Given the description of an element on the screen output the (x, y) to click on. 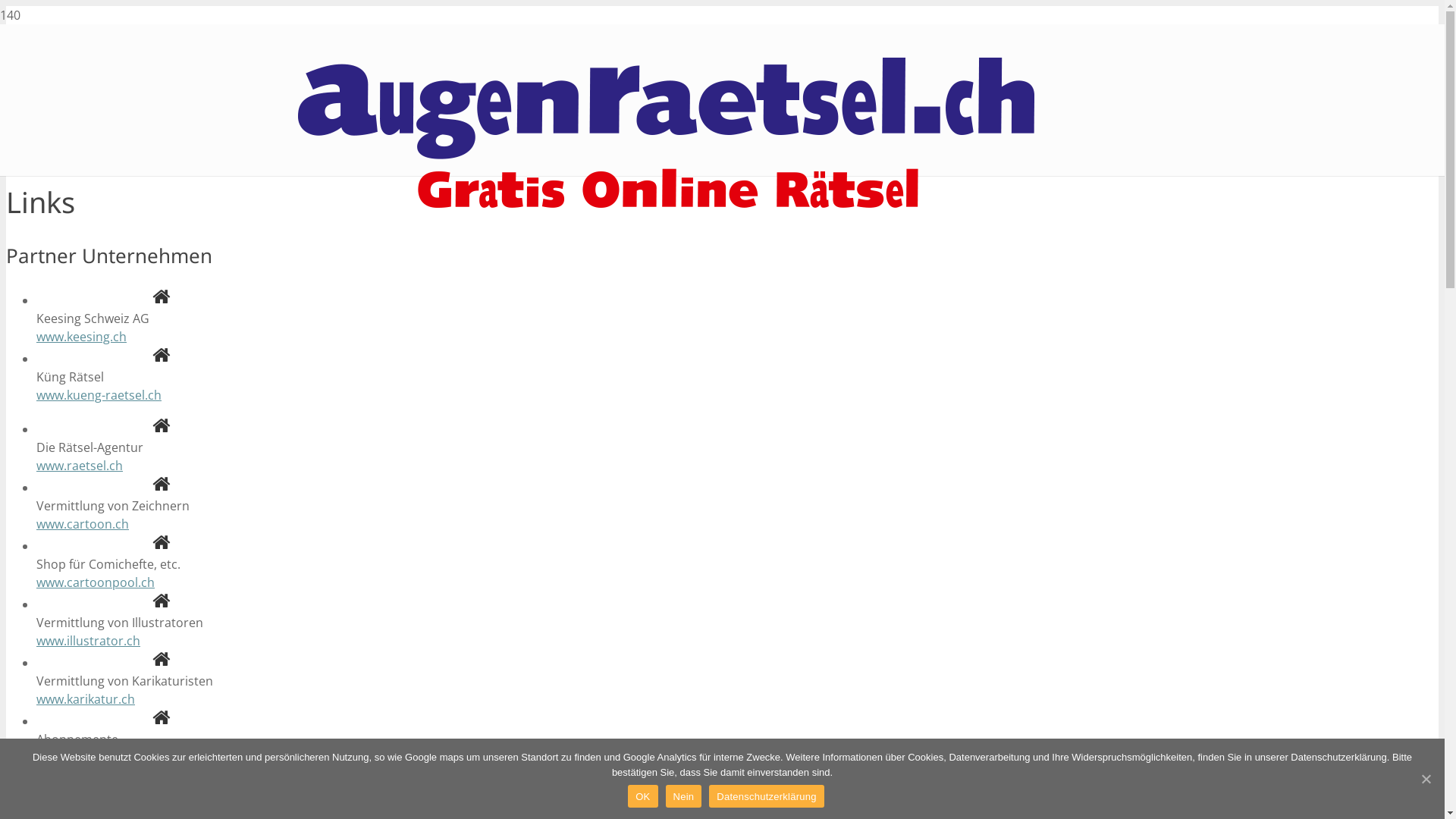
OK Element type: text (642, 795)
www.cartoonpool.ch Element type: text (95, 582)
www.keesing.ch Element type: text (81, 336)
Nein Element type: text (683, 795)
www.kueng-raetsel.ch Element type: text (98, 394)
www.raetsel.ch Element type: text (79, 465)
www.cartoon.ch Element type: text (82, 523)
www.karikatur.ch Element type: text (85, 698)
www.illustrator.ch Element type: text (88, 640)
